Given the description of an element on the screen output the (x, y) to click on. 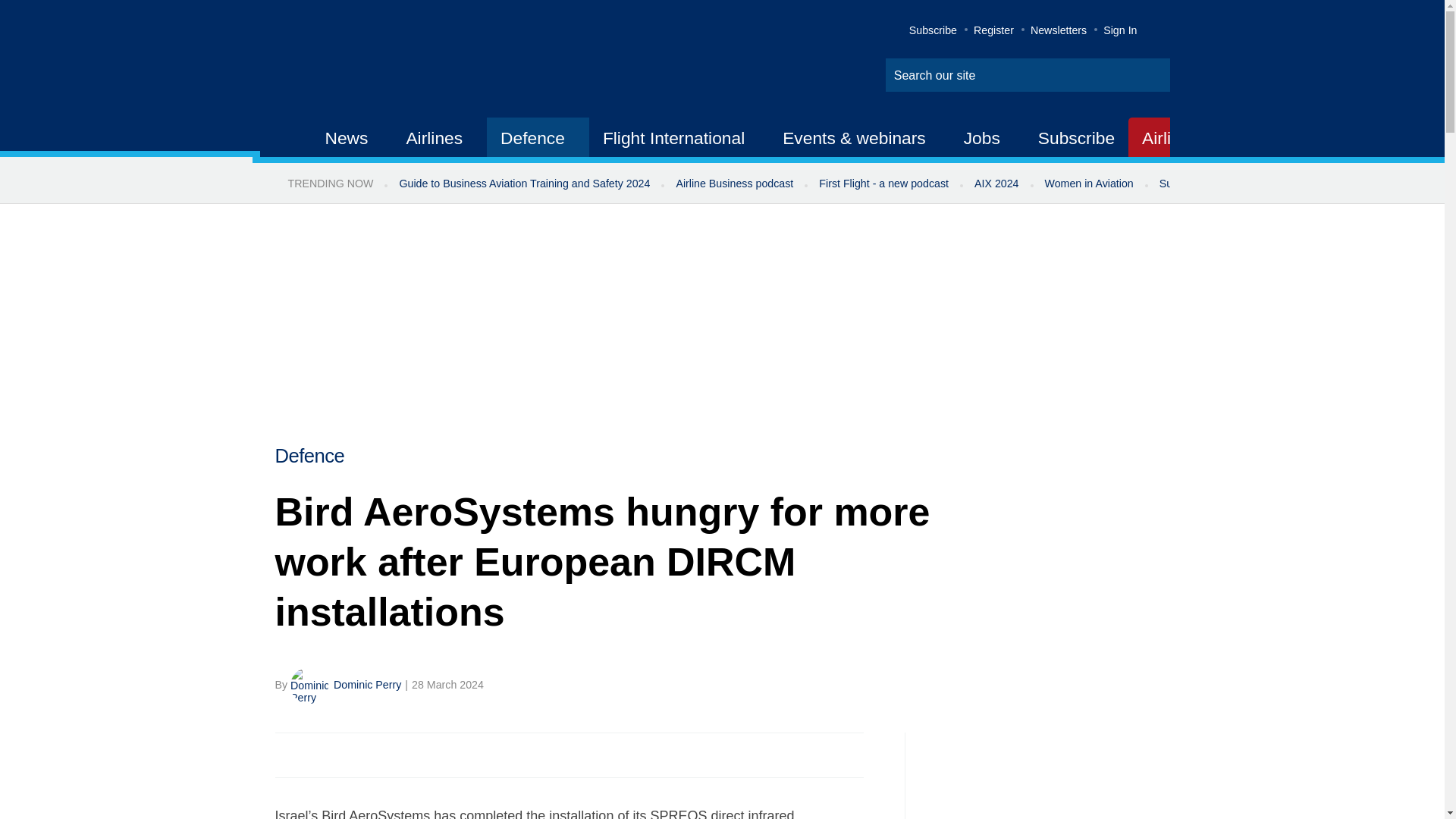
Share this on Twitter (320, 754)
Share this on Facebook (288, 754)
First Flight - a new podcast (883, 183)
Sustainable Aviation newsletter (1234, 183)
Site name (422, 60)
Women in Aviation (1089, 183)
Airline Business podcast (734, 183)
AIX 2024 (996, 183)
Guide to Business Aviation Training and Safety 2024 (523, 183)
Email this article (386, 754)
